Given the description of an element on the screen output the (x, y) to click on. 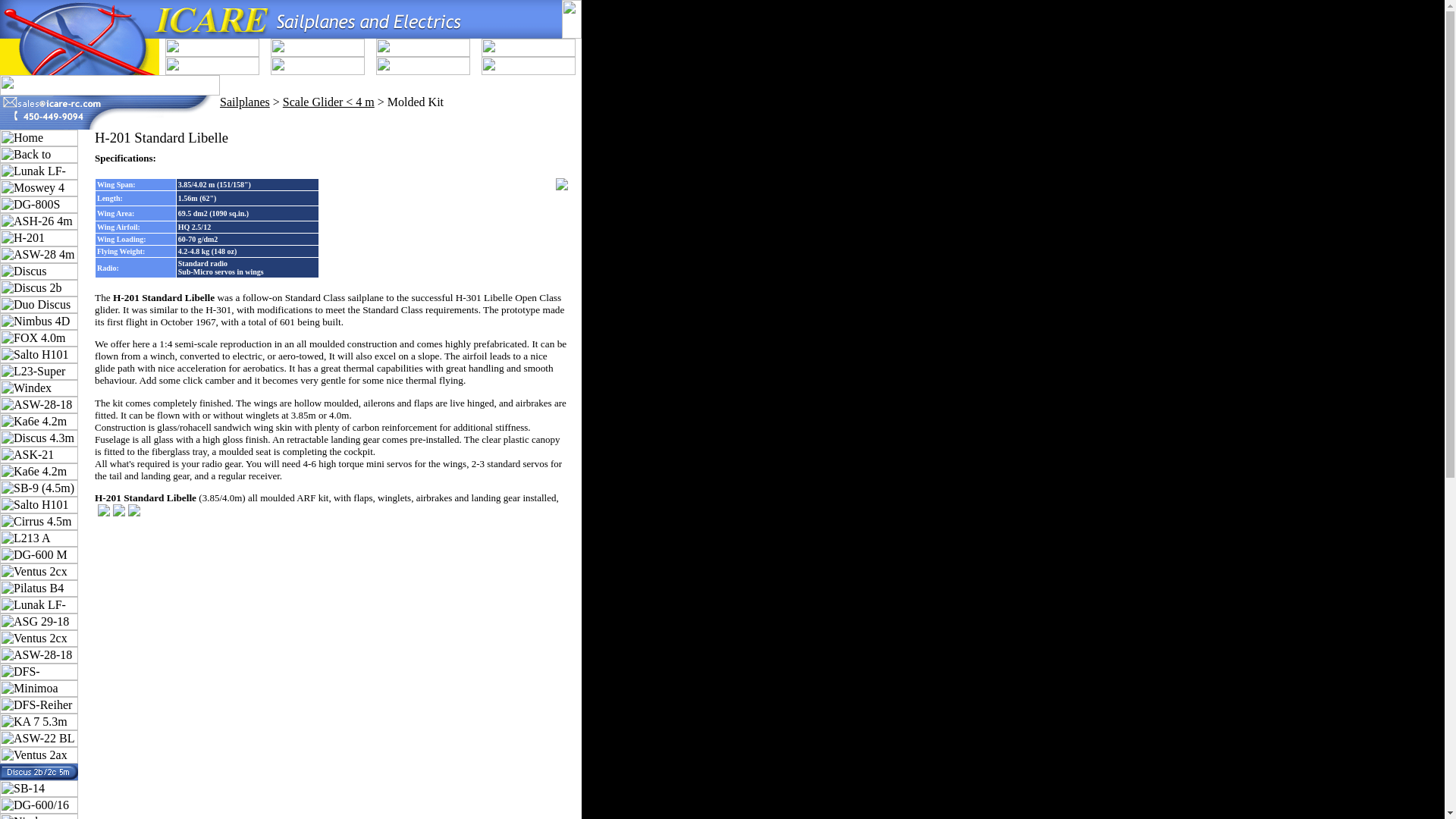
Sailplanes (244, 101)
